Given the description of an element on the screen output the (x, y) to click on. 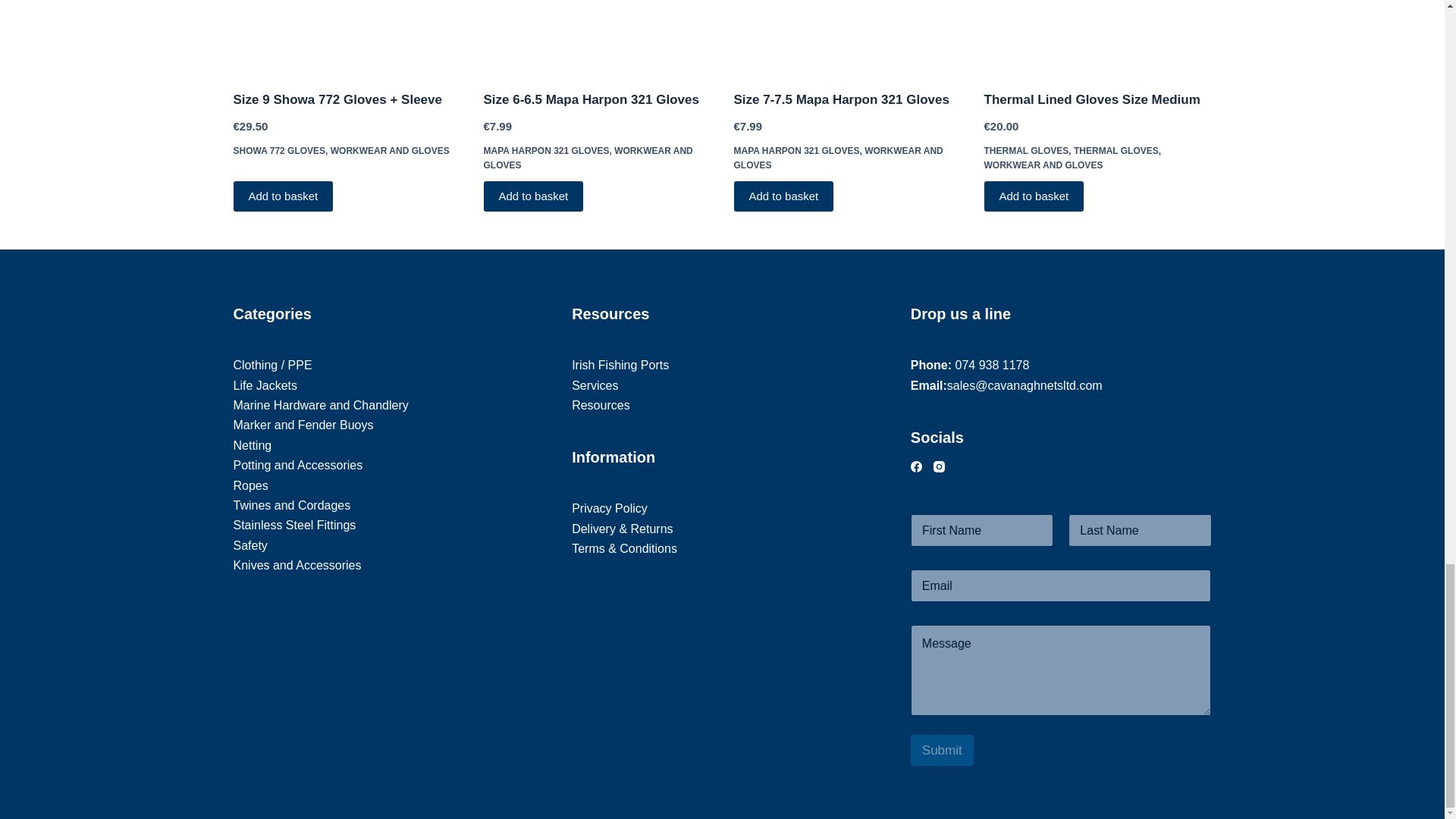
bnbluegloves (1097, 35)
mapa321 (846, 35)
mapa321 (597, 35)
Showa772 (346, 35)
